Given the description of an element on the screen output the (x, y) to click on. 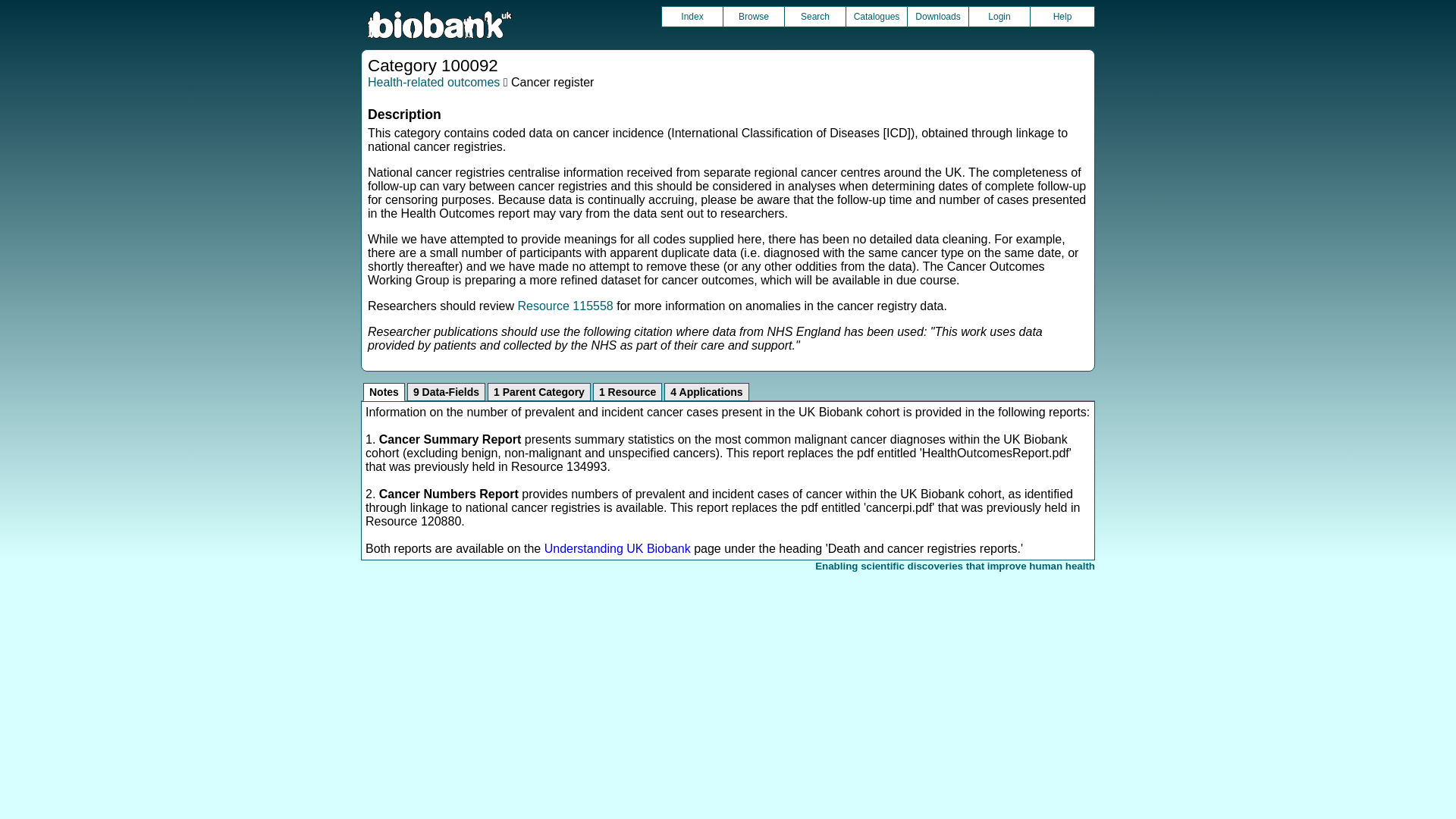
1 Parent Category (539, 392)
1 Resource (627, 392)
Browse (753, 16)
Notes (383, 392)
Resource 115558 (564, 305)
Index (692, 16)
Downloads (937, 16)
Search (814, 16)
Catalogues (876, 16)
9 Data-Fields (445, 392)
